Given the description of an element on the screen output the (x, y) to click on. 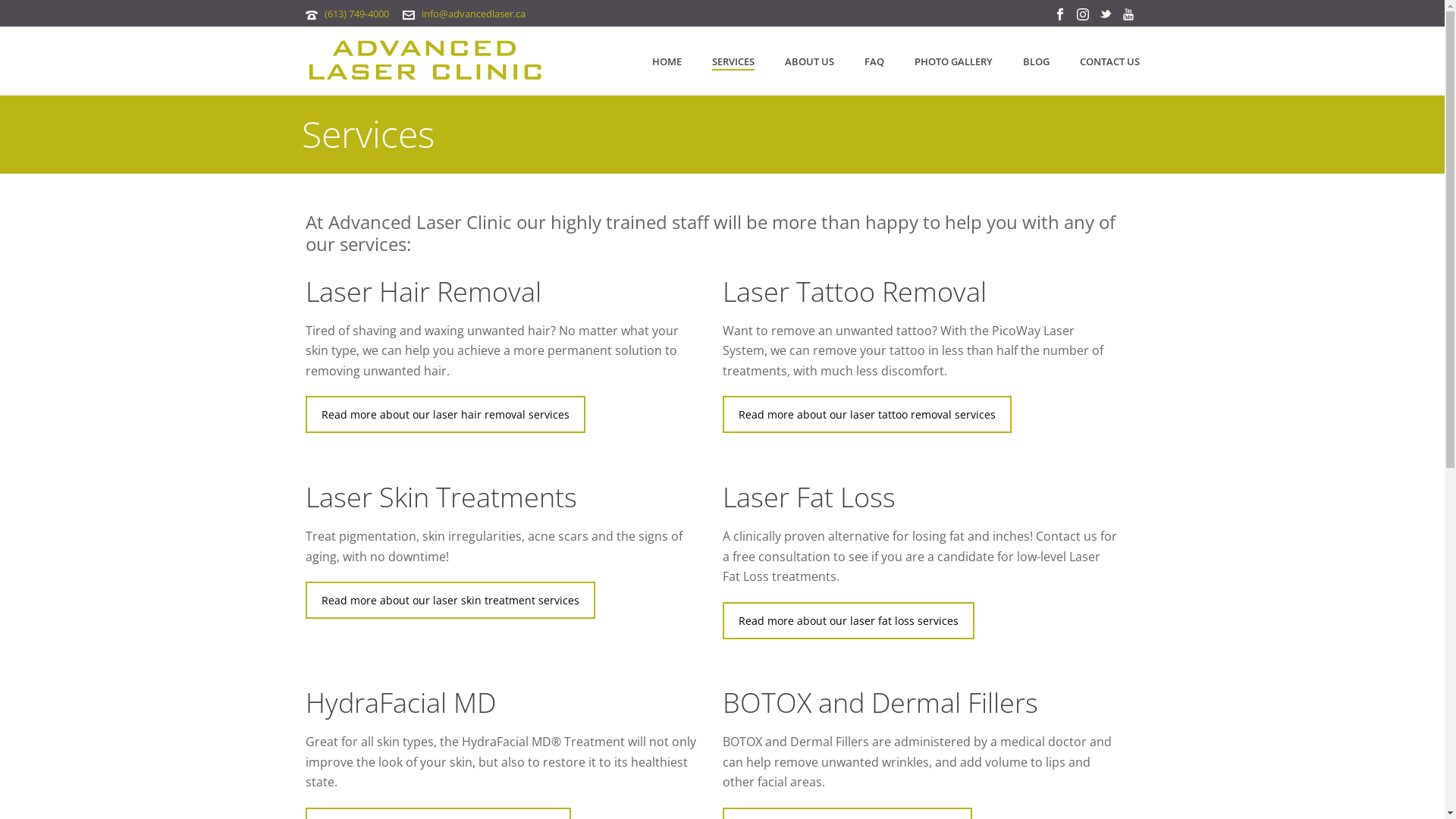
Read more about our laser skin treatment services Element type: text (449, 599)
FAQ Element type: text (874, 61)
BLOG Element type: text (1035, 61)
(613) 749-4000 Element type: text (356, 13)
HOME Element type: text (666, 61)
info@advancedlaser.ca Element type: text (473, 13)
ABOUT US Element type: text (808, 61)
Read more about our laser hair removal services Element type: text (444, 414)
SERVICES Element type: text (732, 61)
CONTACT US Element type: text (1109, 61)
PHOTO GALLERY Element type: text (953, 61)
Read more about our laser tattoo removal services Element type: text (865, 414)
Laser hair removal and laser tattoo removal Element type: hover (424, 60)
Read more about our laser fat loss services Element type: text (847, 620)
